Given the description of an element on the screen output the (x, y) to click on. 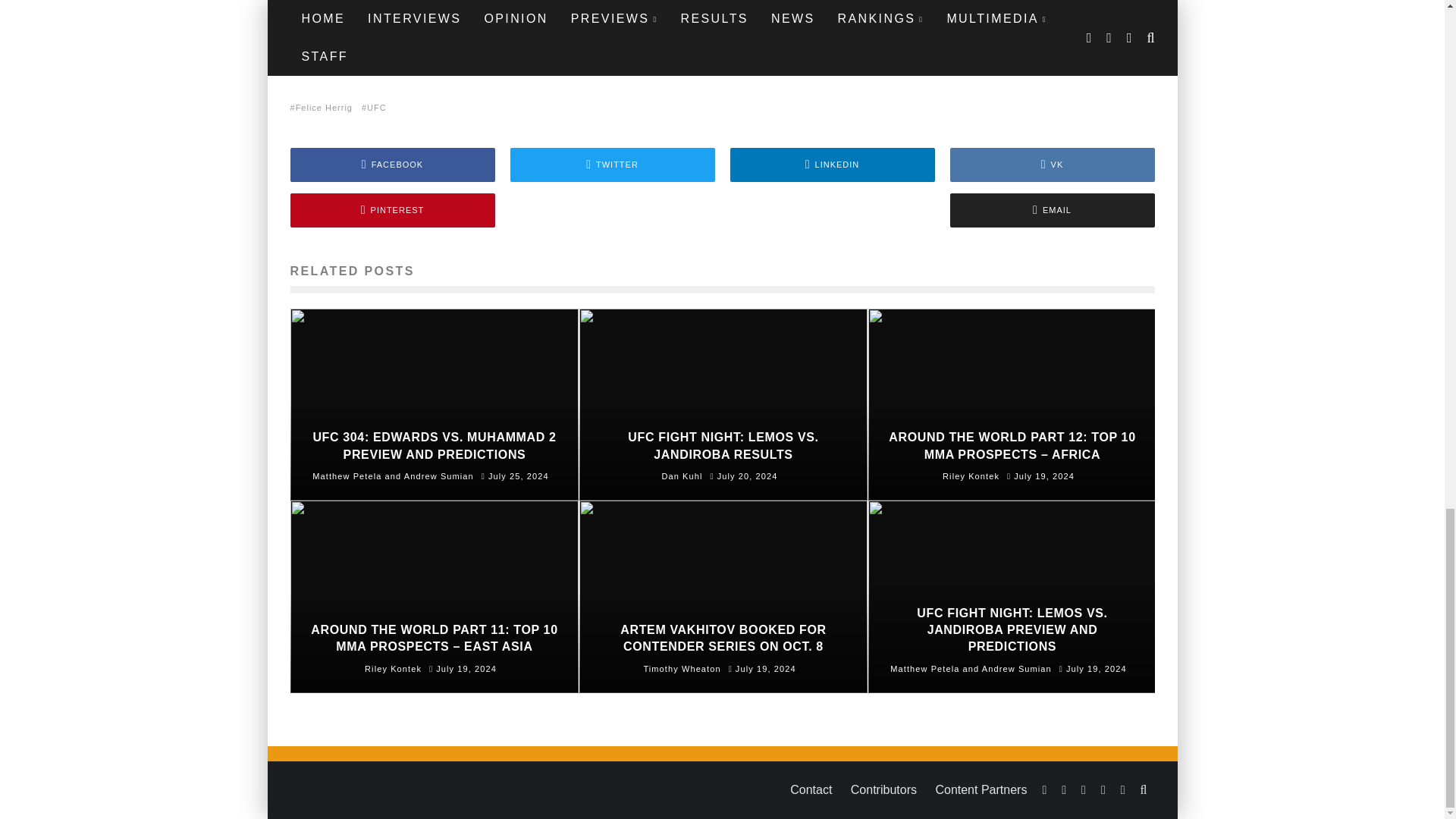
Posts by Riley Kontek (970, 475)
Posts by Riley Kontek (393, 668)
Posts by Timothy Wheaton (681, 668)
Posts by Matthew Petela (347, 475)
Posts by Matthew Petela (924, 668)
Posts by Andrew Sumian (439, 475)
Posts by Dan Kuhl (681, 475)
Posts by Andrew Sumian (1016, 668)
